Given the description of an element on the screen output the (x, y) to click on. 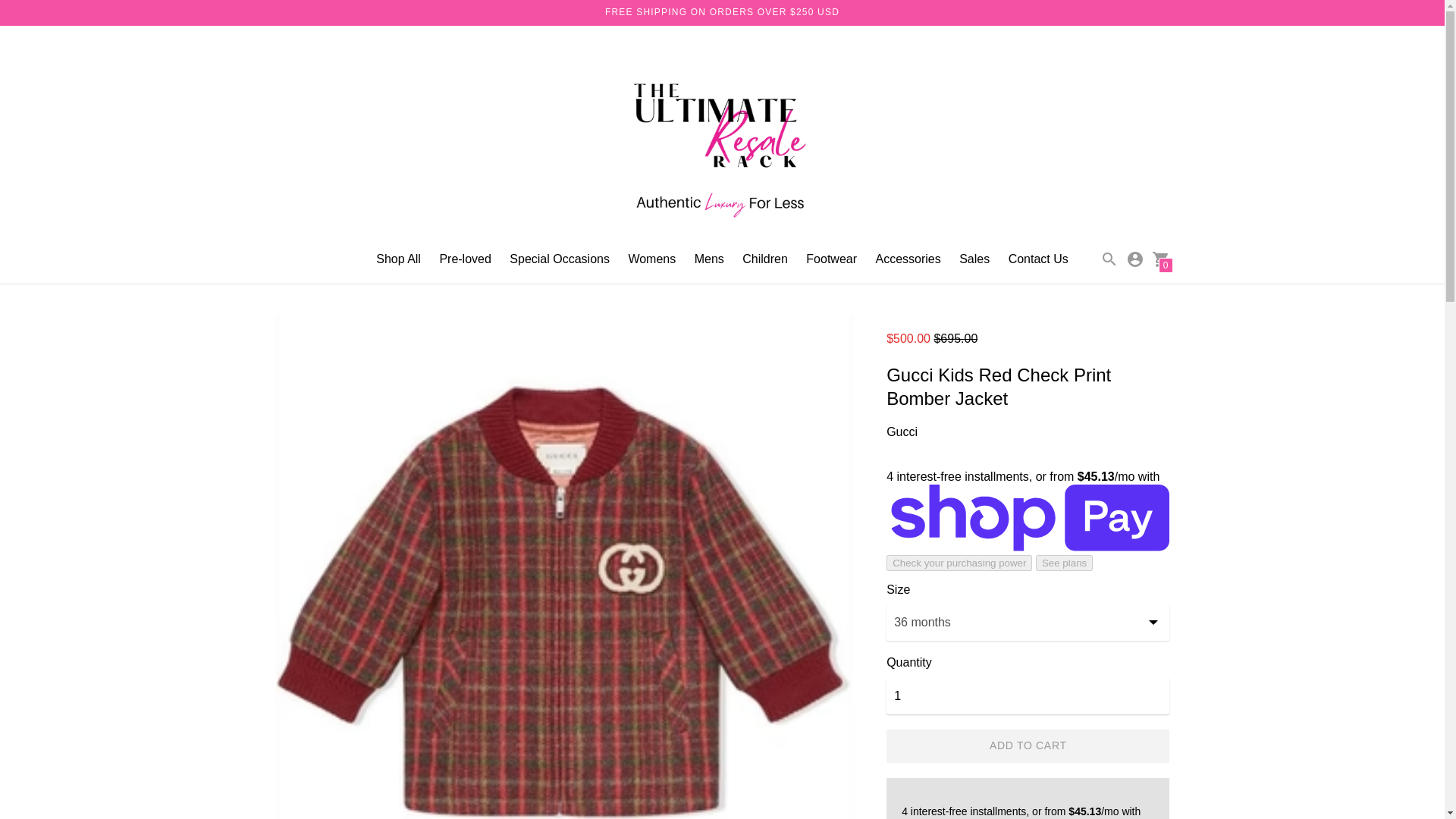
Children (764, 258)
1 (1027, 696)
Sales (974, 258)
Mens (708, 258)
Shop All (397, 258)
Pre-loved (464, 258)
Womens (651, 258)
Special Occasions (559, 258)
0 (1160, 257)
Contact Us (1038, 258)
Accessories (907, 258)
Footwear (831, 258)
